Given the description of an element on the screen output the (x, y) to click on. 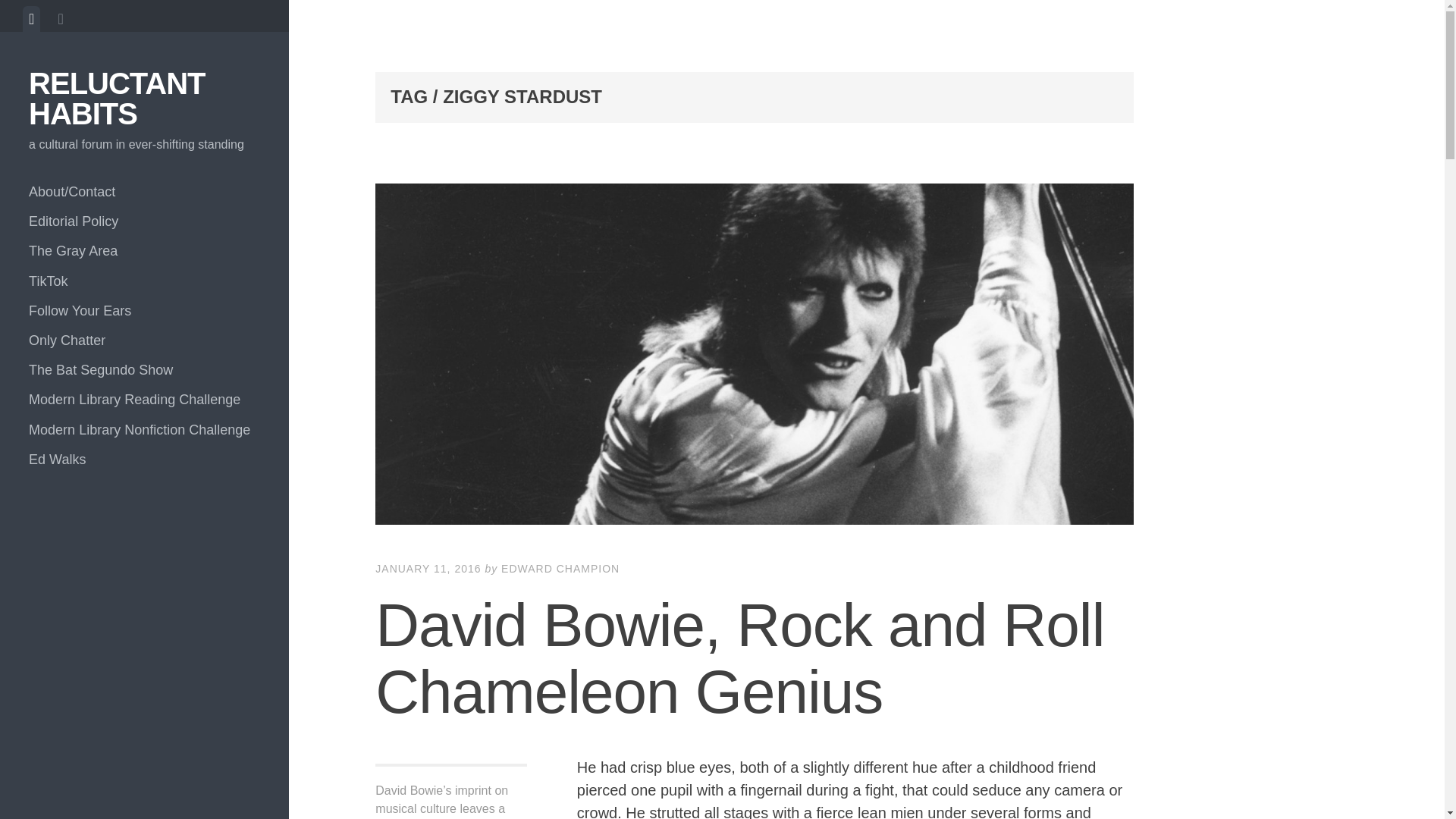
TikTok (144, 281)
Ed Walks (144, 460)
RELUCTANT HABITS (117, 98)
Modern Library Nonfiction Challenge (144, 430)
Modern Library Reading Challenge (144, 399)
Editorial Policy (144, 221)
The Bat Segundo Show (144, 369)
The Gray Area (144, 251)
Only Chatter (144, 340)
Follow Your Ears (144, 310)
